Given the description of an element on the screen output the (x, y) to click on. 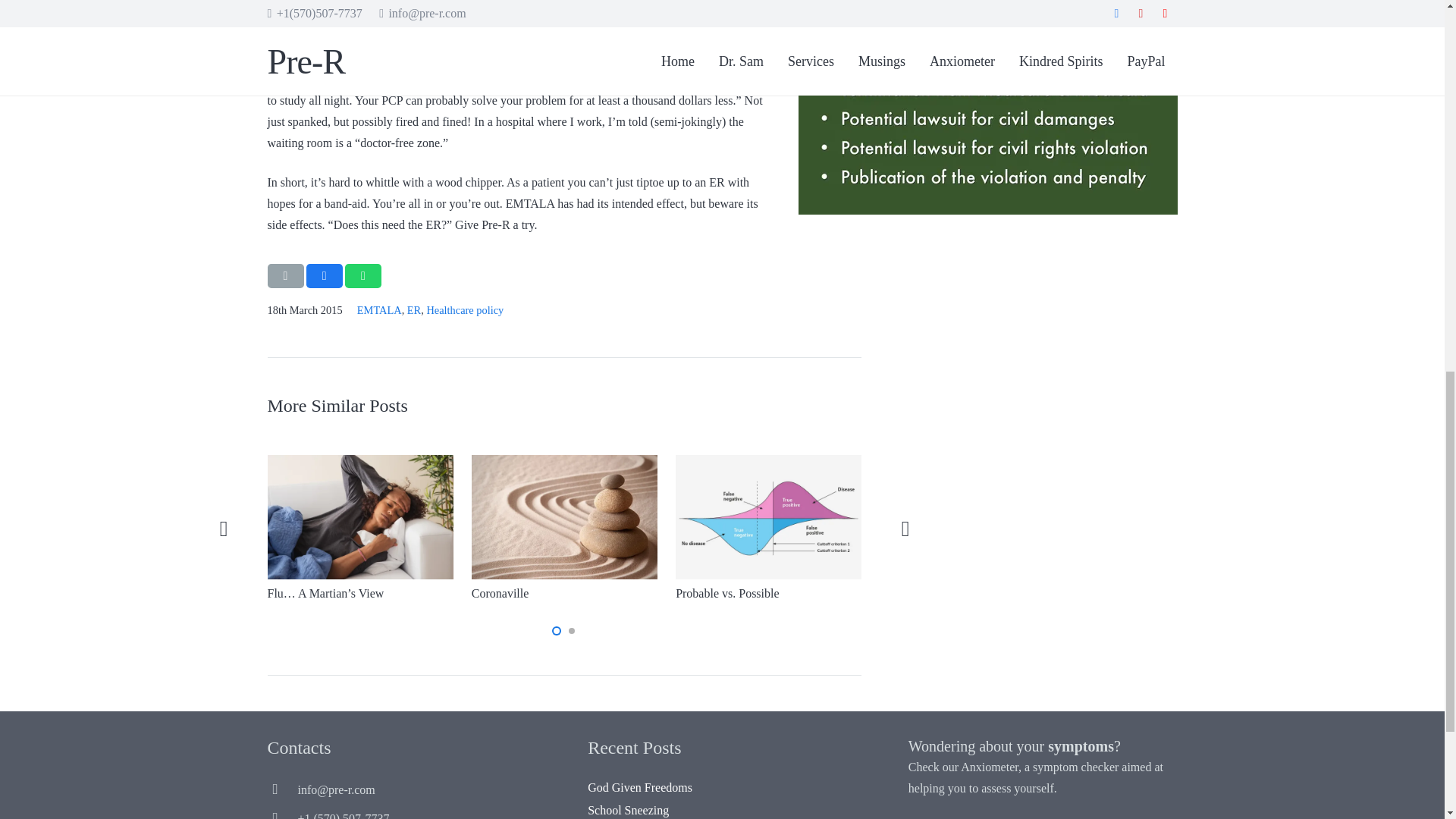
ER (413, 309)
Email this (284, 275)
Back to top (1413, 26)
Probable vs. Possible (726, 593)
Coronaville (500, 593)
Healthcare policy (464, 309)
Share this (323, 275)
EMTALA (378, 309)
Share this (363, 275)
